Given the description of an element on the screen output the (x, y) to click on. 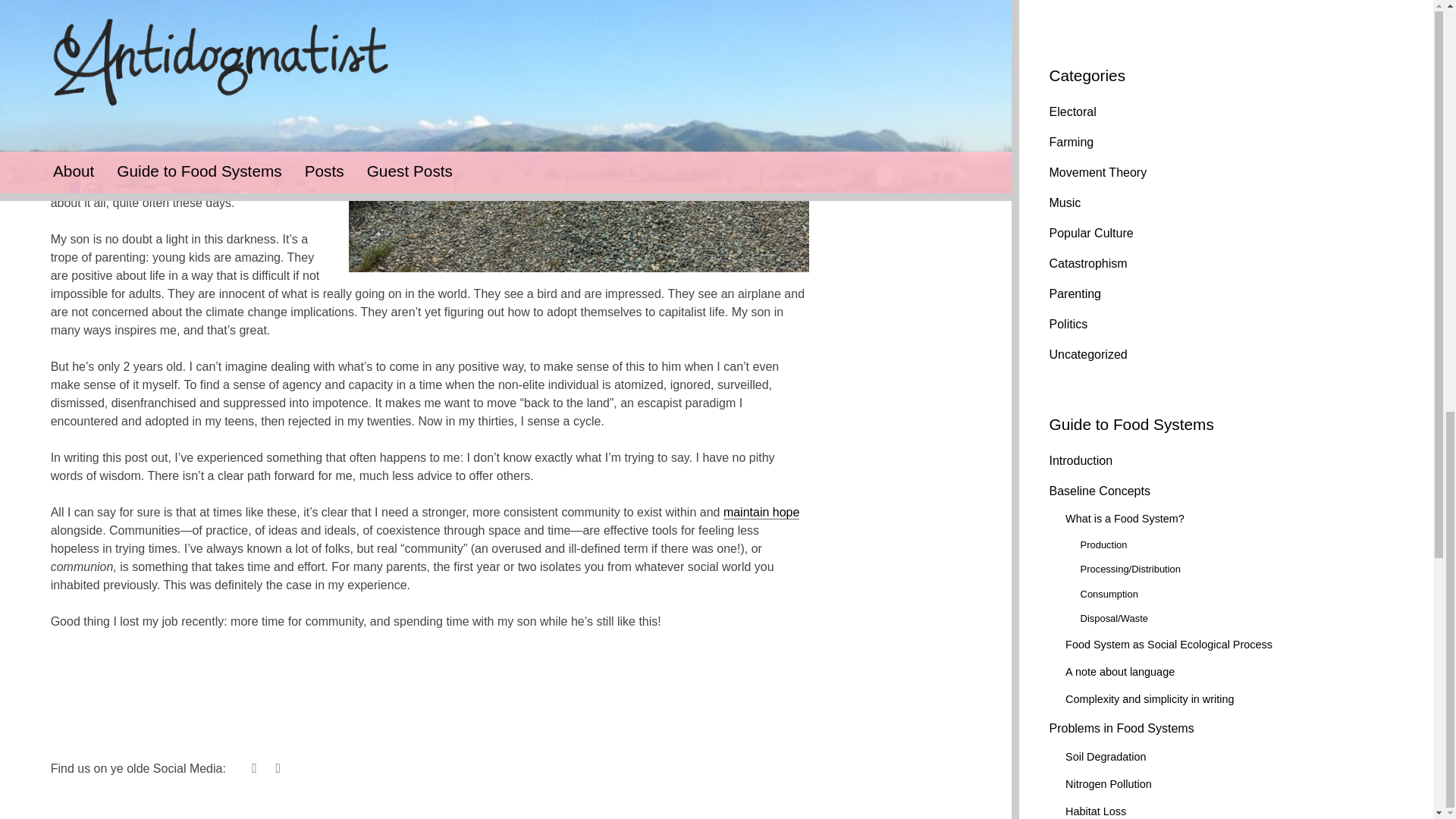
environmental (278, 38)
maintain hope (761, 512)
Twitter (253, 770)
Facebook (276, 770)
